Given the description of an element on the screen output the (x, y) to click on. 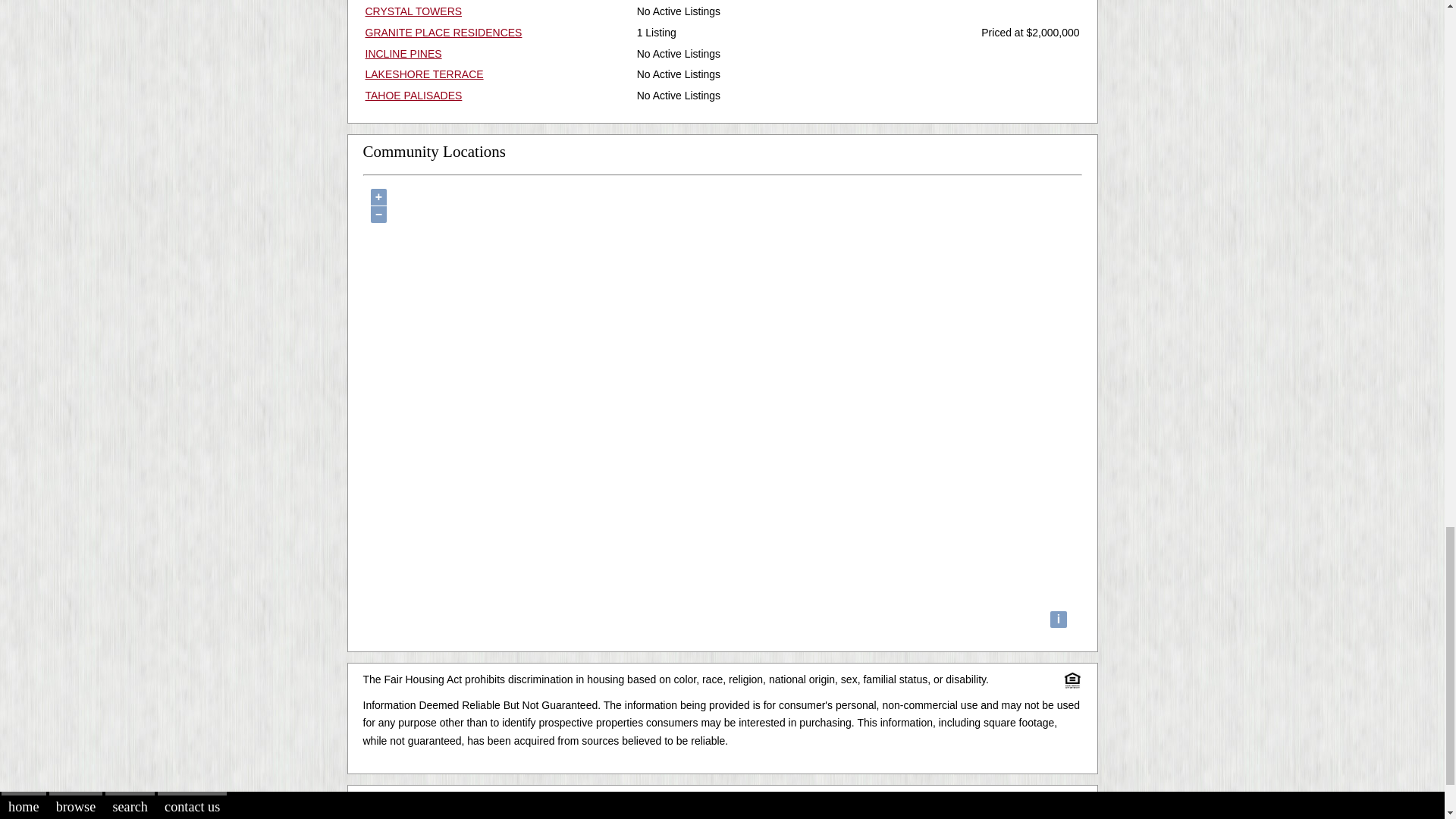
i (1058, 619)
LAKESHORE TERRACE Condos For Sale (424, 73)
LAKESHORE TERRACE (424, 73)
INCLINE PINES Condos For Sale (403, 52)
GRANITE PLACE RESIDENCES Condos For Sale (443, 32)
GRANITE PLACE RESIDENCES (443, 32)
CRYSTAL TOWERS Condos For Sale (414, 10)
CRYSTAL TOWERS (414, 10)
INCLINE PINES (403, 52)
TAHOE PALISADES (414, 95)
